Given the description of an element on the screen output the (x, y) to click on. 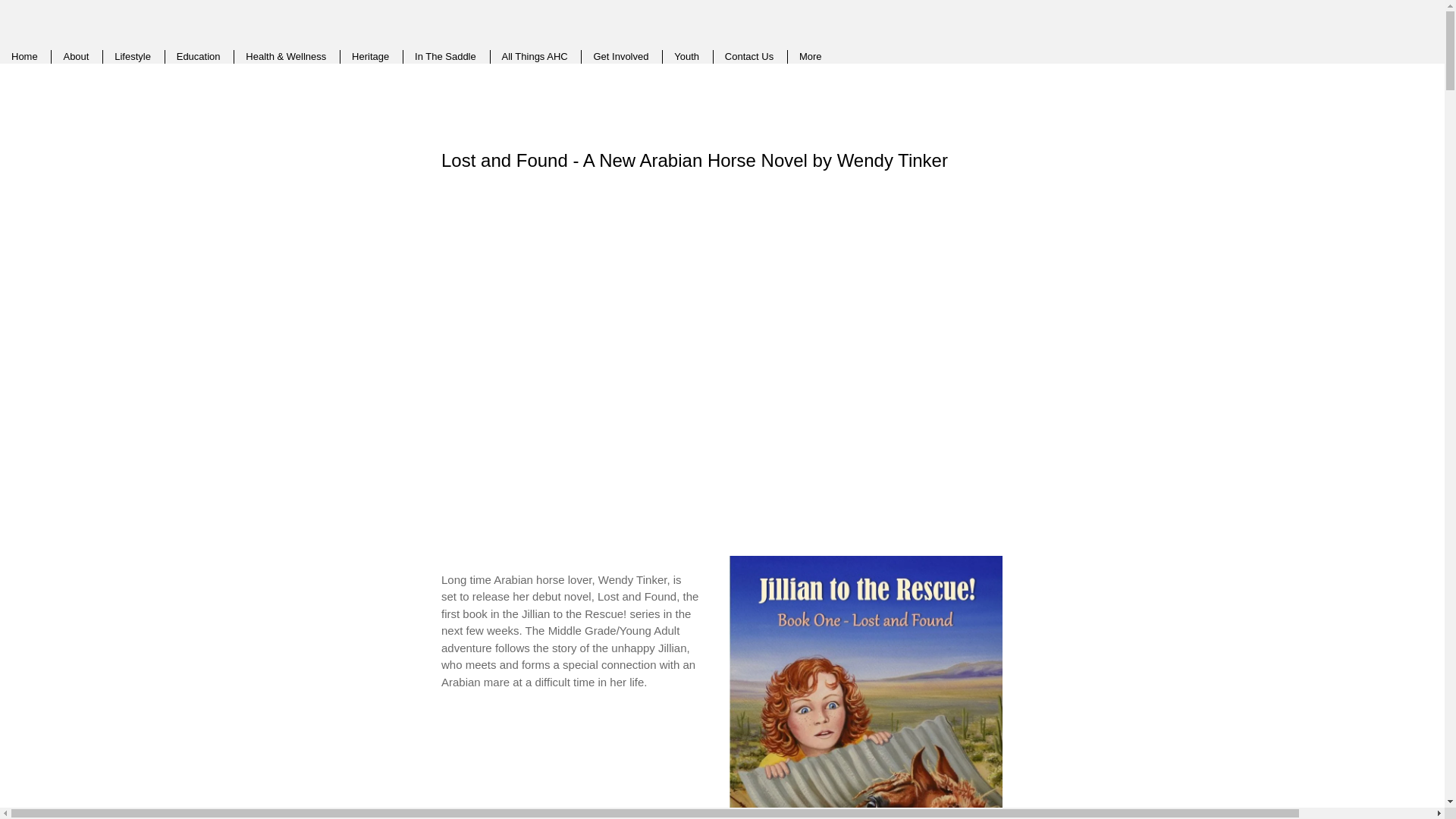
Education (198, 56)
In The Saddle (445, 56)
Lifestyle (132, 56)
Home (24, 56)
Contact Us (748, 56)
About (75, 56)
Get Involved (619, 56)
All Things AHC (534, 56)
Heritage (370, 56)
Youth (686, 56)
